Given the description of an element on the screen output the (x, y) to click on. 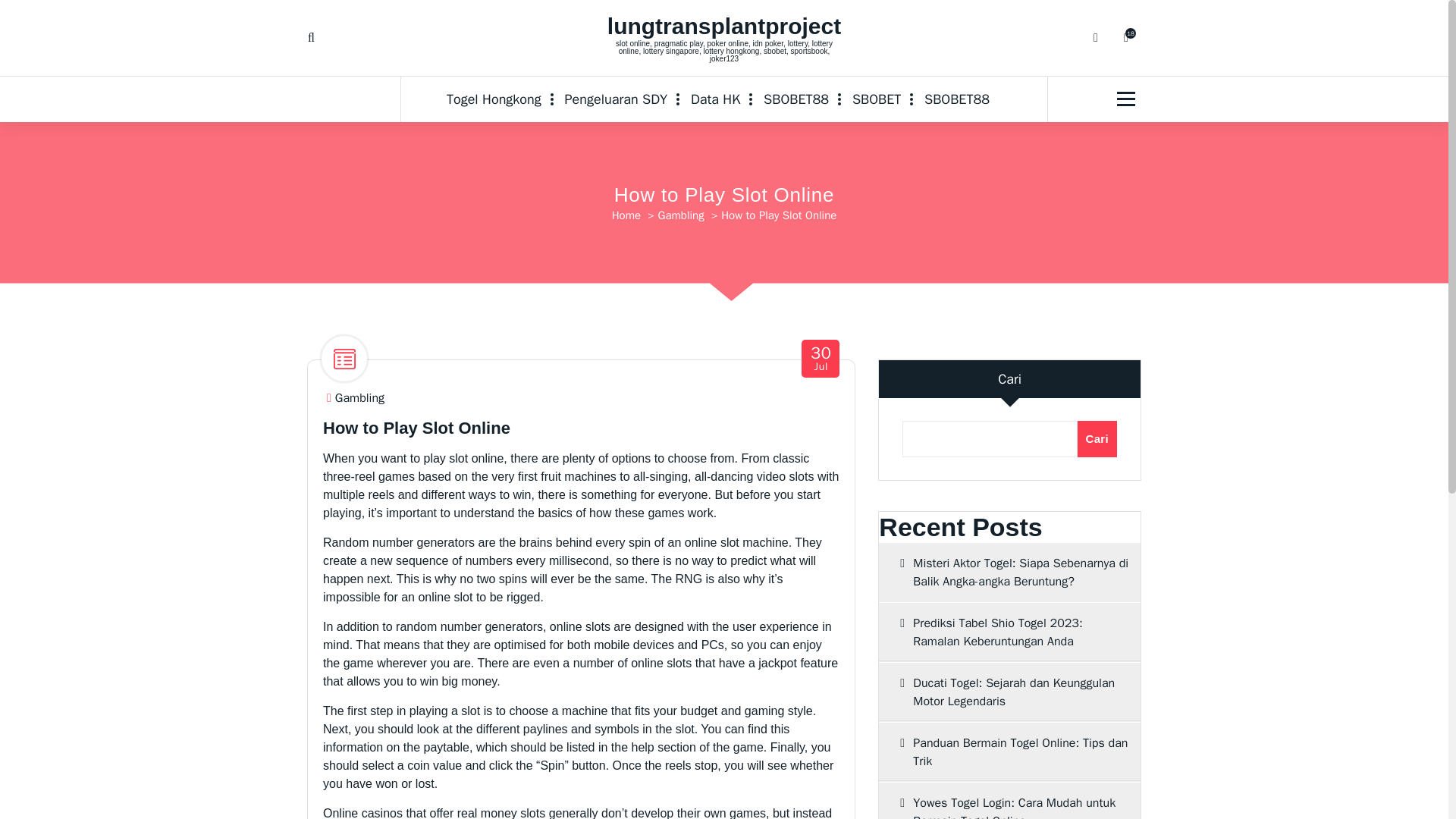
SBOBET (876, 99)
Pengeluaran SDY (616, 99)
Data HK (715, 99)
SBOBET (876, 99)
Data HK (820, 358)
SBOBET88 (715, 99)
Home (956, 99)
Togel Hongkong (625, 214)
Yowes Togel Login: Cara Mudah untuk Bermain Togel Online (499, 99)
SBOBET88 (1009, 800)
lungtransplantproject (796, 99)
Ducati Togel: Sejarah dan Keunggulan Motor Legendaris (724, 26)
Gambling (1009, 691)
